Given the description of an element on the screen output the (x, y) to click on. 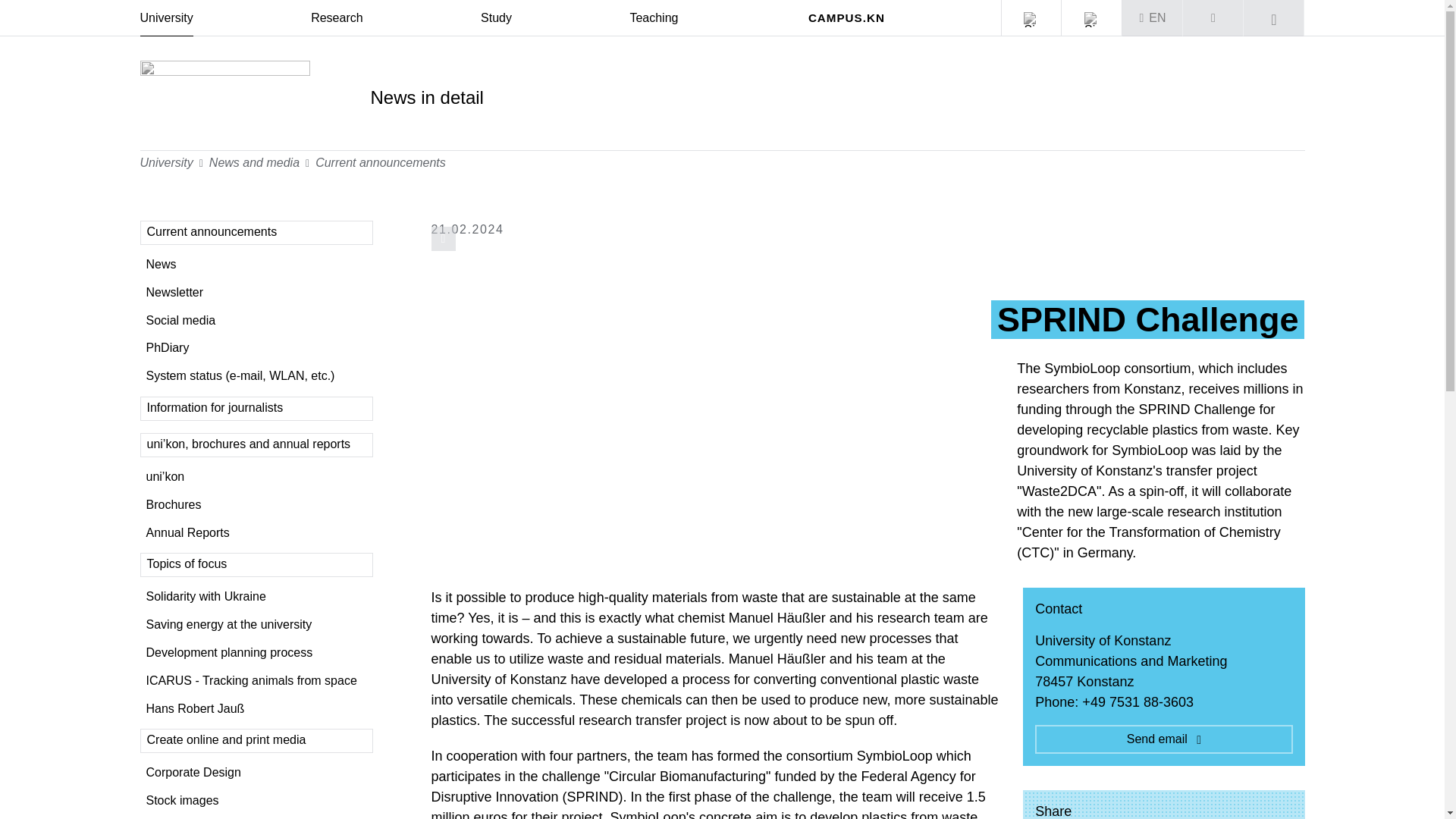
English (1157, 17)
Simple Language (1031, 19)
Research (336, 18)
Teaching (653, 18)
University (165, 18)
Toggle Searchoverlay (1273, 18)
Sprache wechseln (1152, 18)
Login (1212, 18)
Sign Language (1091, 19)
